Given the description of an element on the screen output the (x, y) to click on. 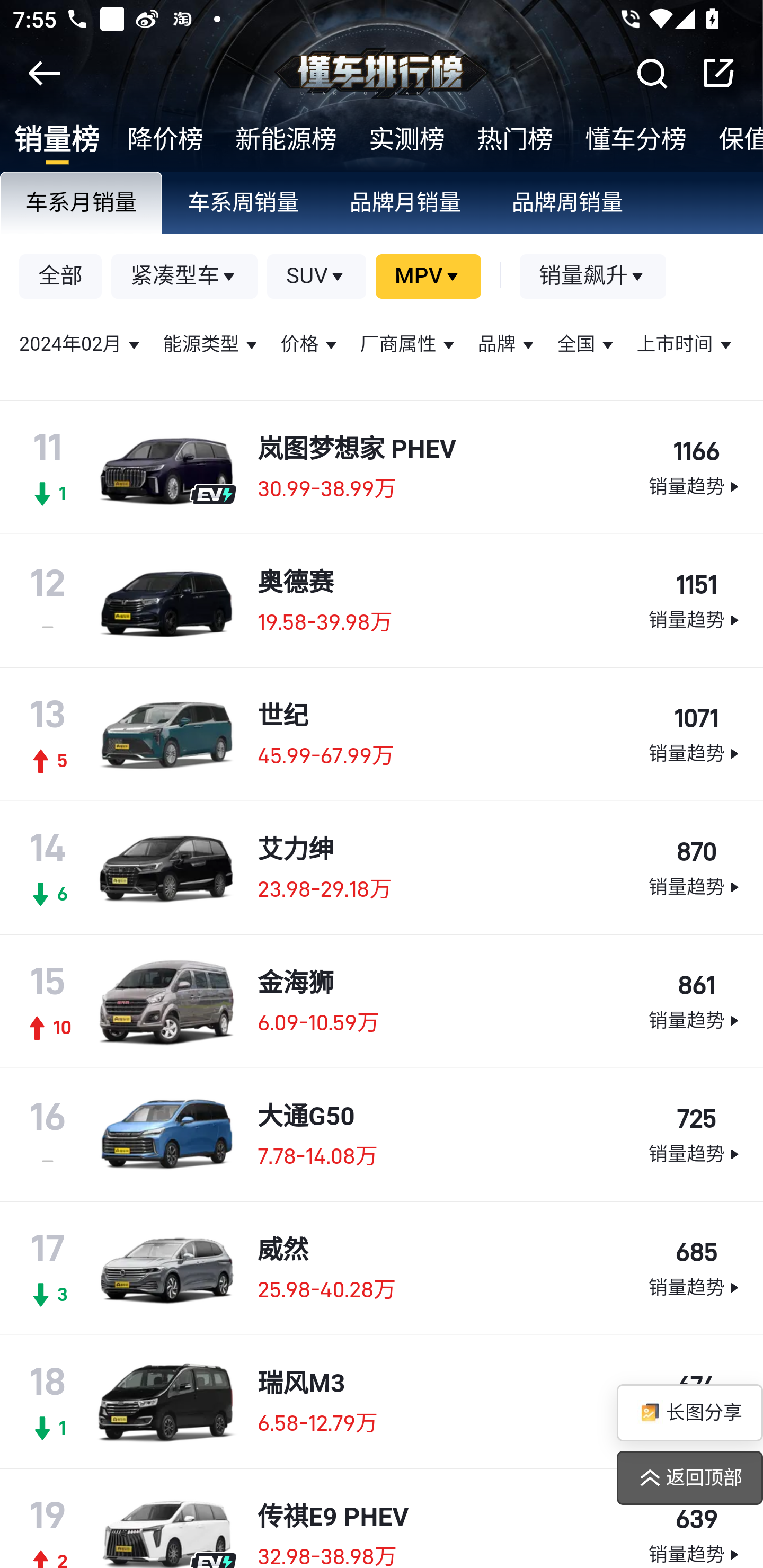
车系月销量 (81, 204)
车系周销量 (243, 204)
品牌月销量 (405, 204)
品牌周销量 (567, 204)
全部 (61, 277)
紧凑型车 (185, 277)
SUV (317, 277)
MPV (428, 277)
销量飙升 (593, 277)
2024年02月 (81, 345)
能源类型 (211, 345)
价格 (310, 345)
厂商属性 (409, 345)
品牌 (507, 345)
全国 (587, 345)
上市时间 (685, 345)
1166 销量趋势 (695, 468)
12 奥德赛 19.58-39.98万 1151 销量趋势 (381, 601)
1151 销量趋势 (695, 601)
13 5 世纪 45.99-67.99万 1071 销量趋势 (381, 734)
1071 销量趋势 (695, 735)
14 6 艾力绅 23.98-29.18万 870 销量趋势 (381, 868)
870 销量趋势 (695, 869)
15 10 金海狮 6.09-10.59万 861 销量趋势 (381, 1001)
861 销量趋势 (695, 1002)
16 大通G50 7.78-14.08万 725 销量趋势 (381, 1134)
725 销量趋势 (695, 1135)
17 3 威然 25.98-40.28万 685 销量趋势 (381, 1268)
685 销量趋势 (695, 1269)
18 1 瑞风M3 6.58-12.79万 674 销量趋势 (381, 1402)
长图分享 (688, 1413)
返回顶部 (688, 1478)
639 销量趋势 (695, 1535)
